Given the description of an element on the screen output the (x, y) to click on. 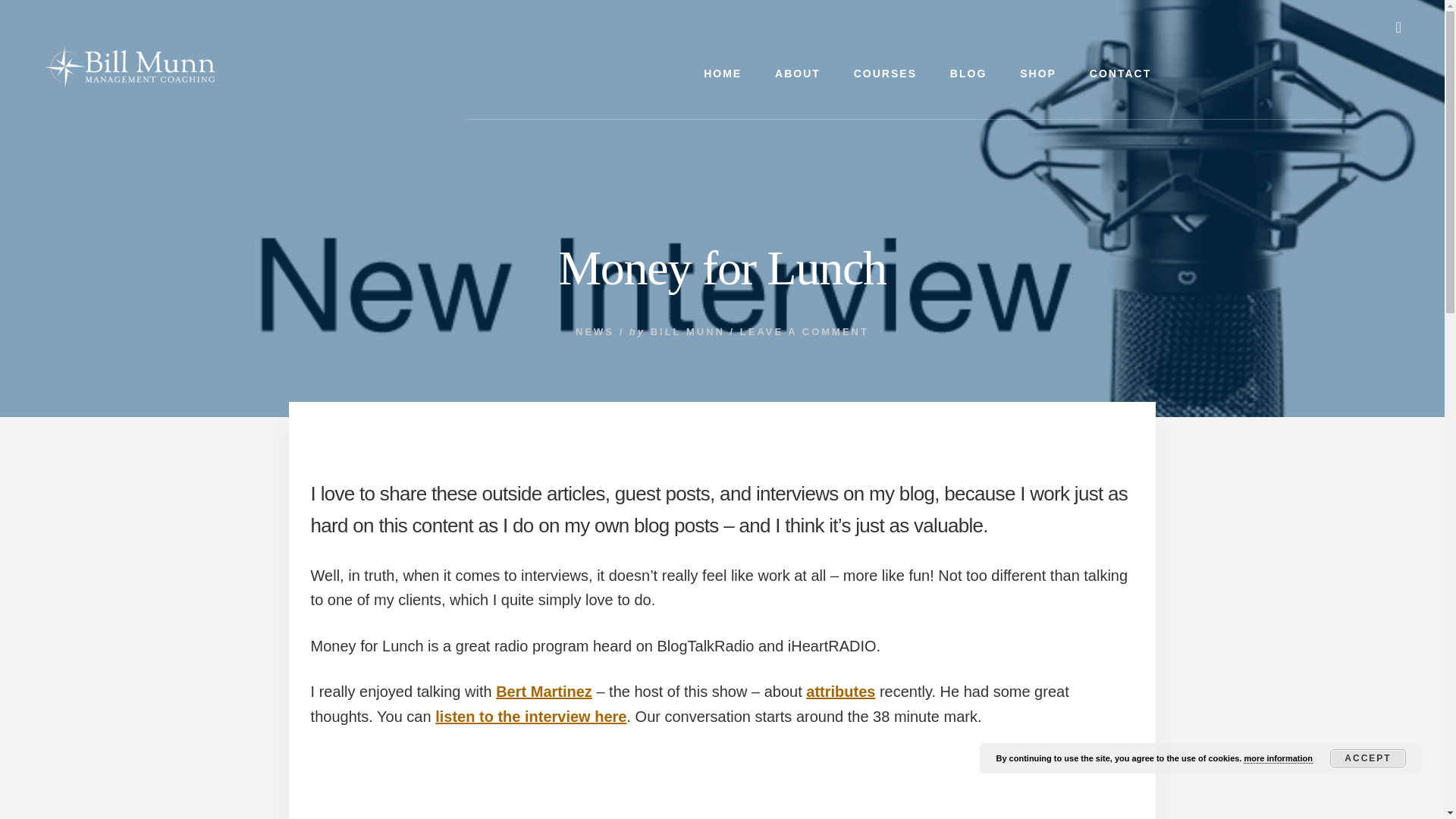
more information (1277, 758)
SHOP (1037, 74)
ACCEPT (1368, 758)
COURSES (884, 74)
HOME (722, 74)
BILL MUNN (687, 331)
Bert Martinez (544, 691)
ABOUT (797, 74)
NEWS (594, 331)
LEAVE A COMMENT (804, 331)
Subscribe (1319, 795)
CONTACT (1120, 74)
listen to the interview here (530, 716)
BLOG (967, 74)
